Given the description of an element on the screen output the (x, y) to click on. 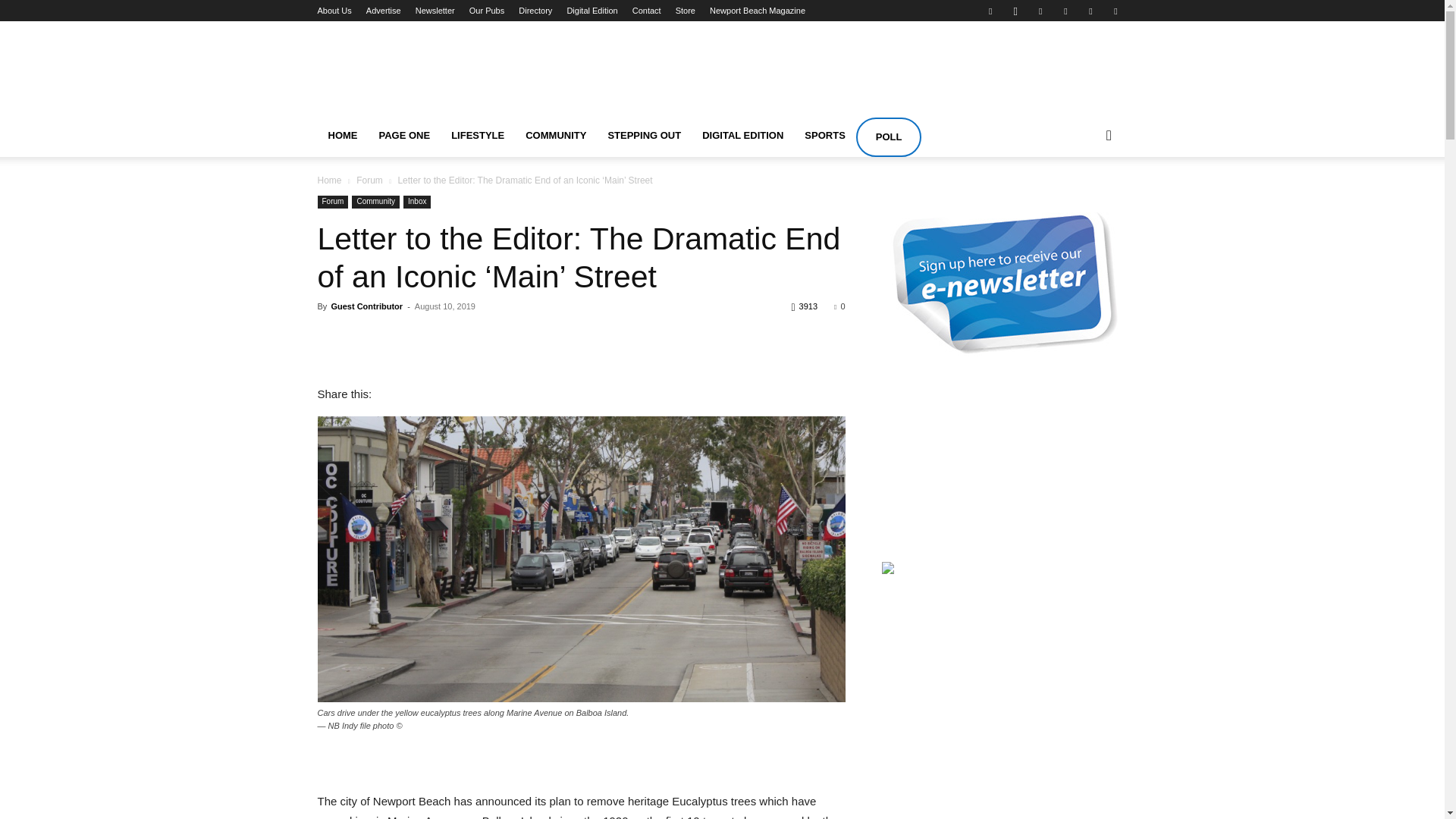
Instagram (1015, 10)
View all posts in Forum (369, 180)
Linkedin (1040, 10)
Facebook (989, 10)
RSS (1090, 10)
Twitter (1114, 10)
Mail (1065, 10)
